Given the description of an element on the screen output the (x, y) to click on. 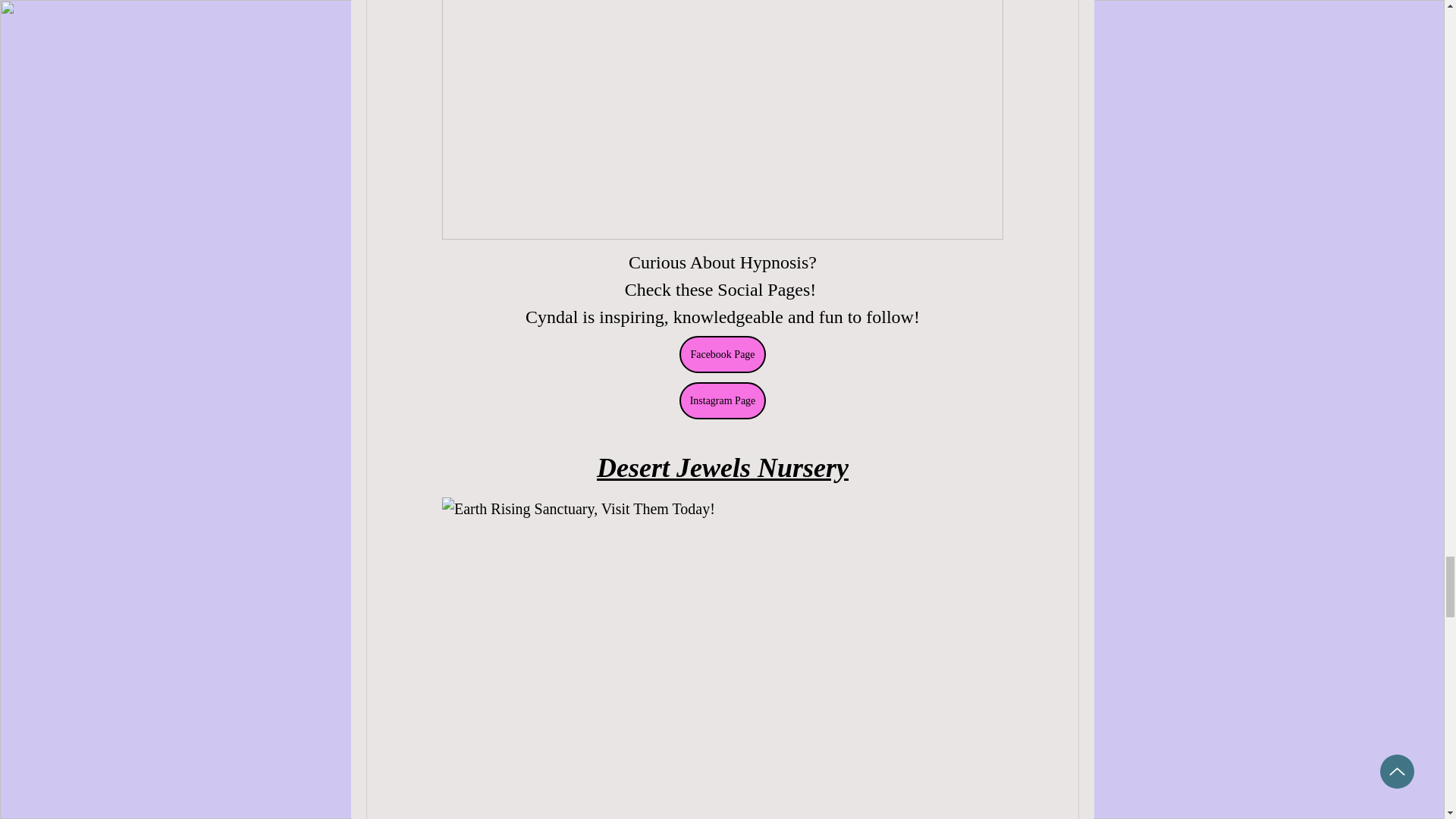
Facebook Page (722, 354)
Instagram Page (721, 400)
